Given the description of an element on the screen output the (x, y) to click on. 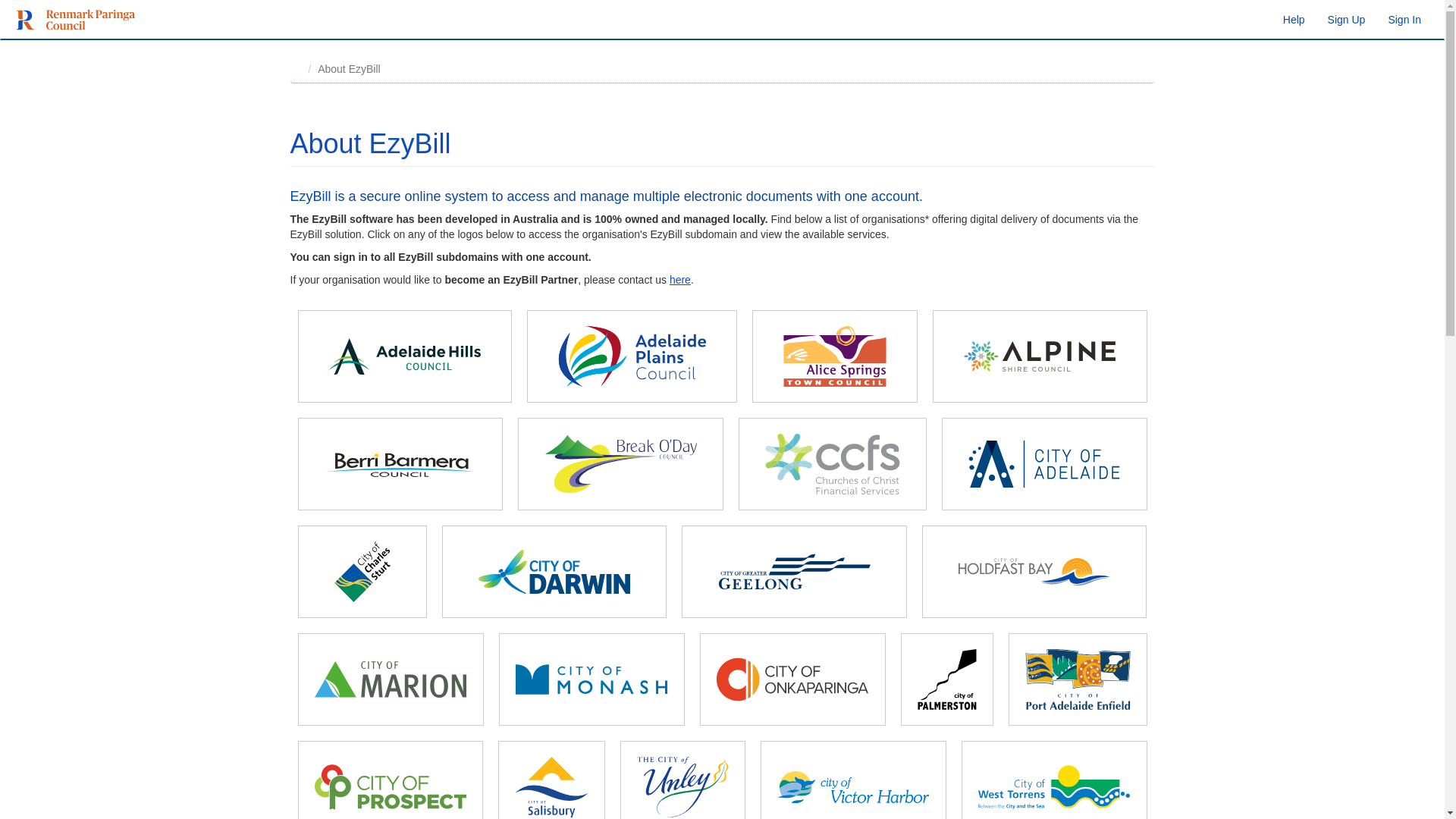
here Element type: text (679, 279)
Open City of West Torrens EzyBill site in new window. Element type: hover (1054, 786)
Open Alice Springs Town Council EzyBill site in new window. Element type: hover (834, 356)
Open City of Salisbury EzyBill site in new window. Element type: hover (551, 786)
Open City of Marion EzyBill site in new window. Element type: hover (390, 679)
Open City of Adelaide EzyBill site in new window. Element type: hover (1044, 463)
Open City of Holdfast Bay EzyBill site in new window. Element type: hover (1034, 571)
Open Adelaide Plains Council EzyBill site in new window. Element type: hover (631, 356)
Open Berri Barmera Council EzyBill site in new window. Element type: hover (400, 463)
Open City of Palmerston EzyBill site in new window. Element type: hover (946, 679)
Open Break O'Day Council EzyBill site in new window. Element type: hover (620, 463)
Open City of Charles Sturt EzyBill site in new window. Element type: hover (362, 571)
Renmark Paringa Council Element type: text (68, 19)
Open City of Monash EzyBill site in new window. Element type: hover (591, 679)
Sign In Element type: text (1404, 19)
Open City of Onkaparinga EzyBill site in new window. Element type: hover (792, 679)
Sign Up Element type: text (1346, 19)
Open City of Victor Harbor EzyBill site in new window. Element type: hover (853, 786)
Open City of Darwin EzyBill site in new window. Element type: hover (554, 571)
Open Alpine Shire Council EzyBill site in new window. Element type: hover (1039, 356)
Open City of Unley EzyBill site in new window. Element type: hover (682, 786)
Open City of Prospect EzyBill site in new window. Element type: hover (390, 786)
Open City of Greater Geelong EzyBill site in new window. Element type: hover (794, 571)
Help Element type: text (1293, 19)
Open Adelaide Hills Council EzyBill site in new window. Element type: hover (404, 356)
